Given the description of an element on the screen output the (x, y) to click on. 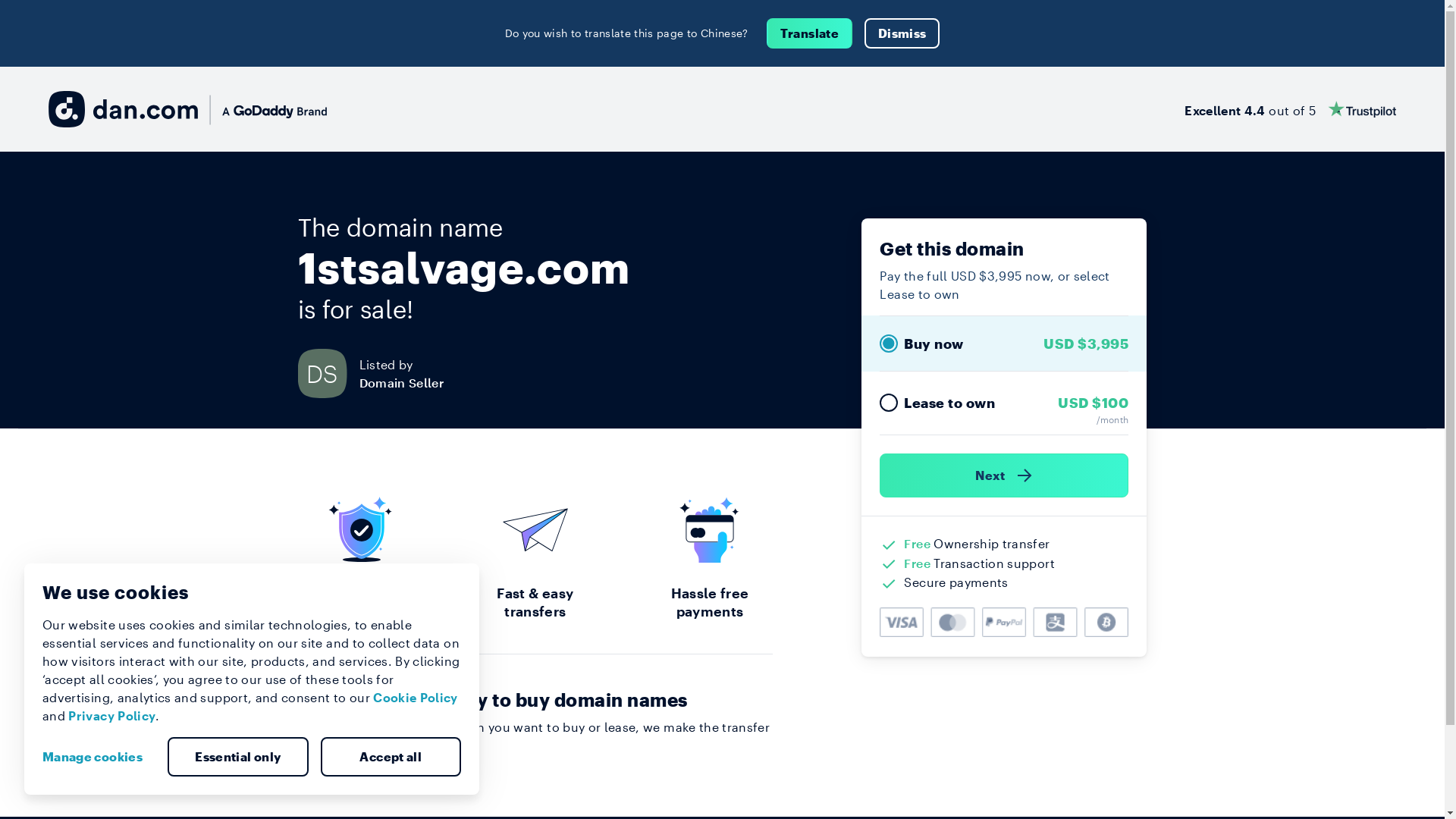
Privacy Policy Element type: text (111, 715)
Excellent 4.4 out of 5 Element type: text (1290, 109)
Cookie Policy Element type: text (415, 697)
Dismiss Element type: text (901, 33)
Next
) Element type: text (1003, 475)
Manage cookies Element type: text (98, 756)
Accept all Element type: text (390, 756)
Essential only Element type: text (237, 756)
Translate Element type: text (809, 33)
